Given the description of an element on the screen output the (x, y) to click on. 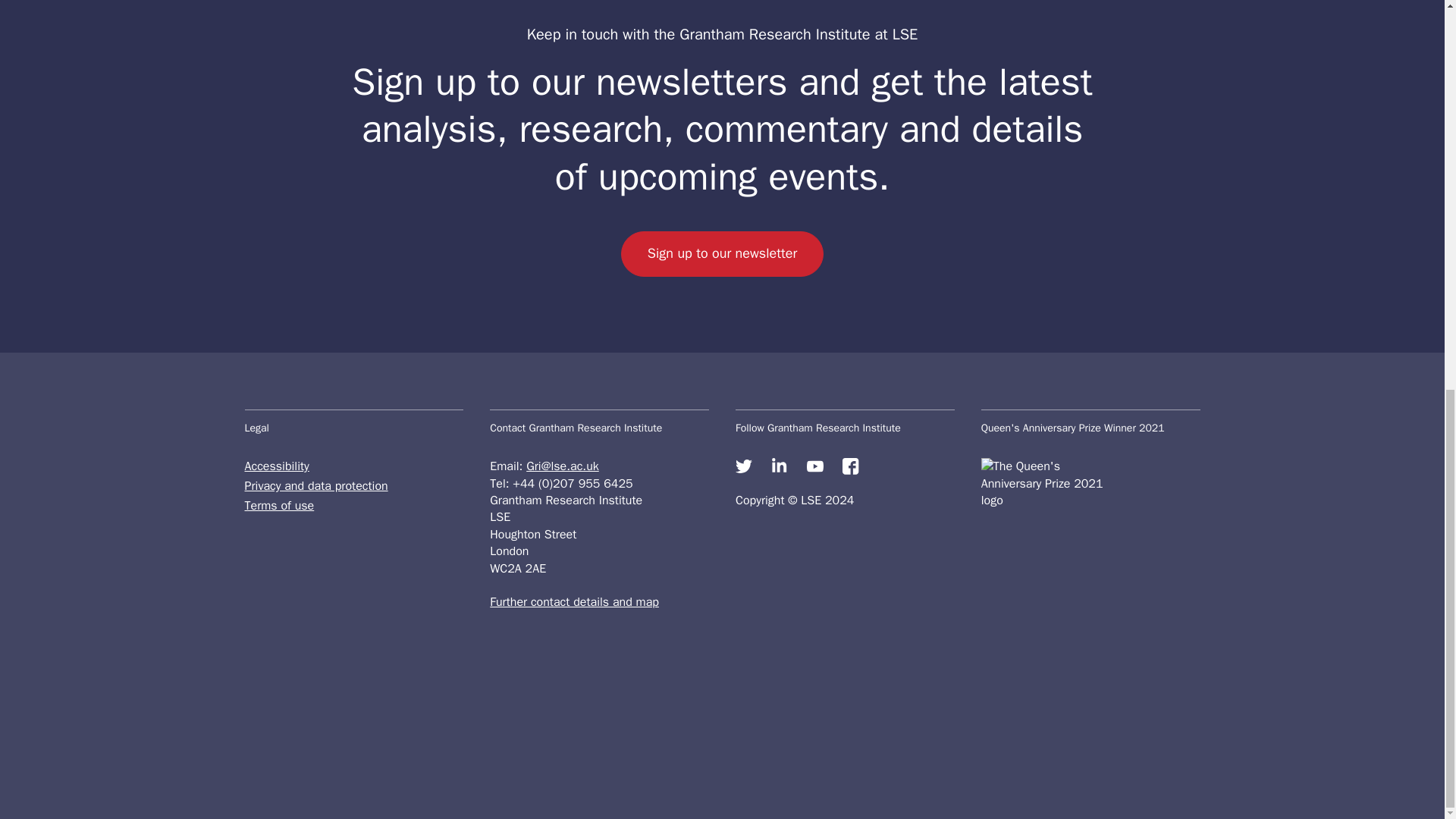
Terms of use (353, 505)
Privacy and data protection (353, 485)
Accessibility (353, 466)
